Given the description of an element on the screen output the (x, y) to click on. 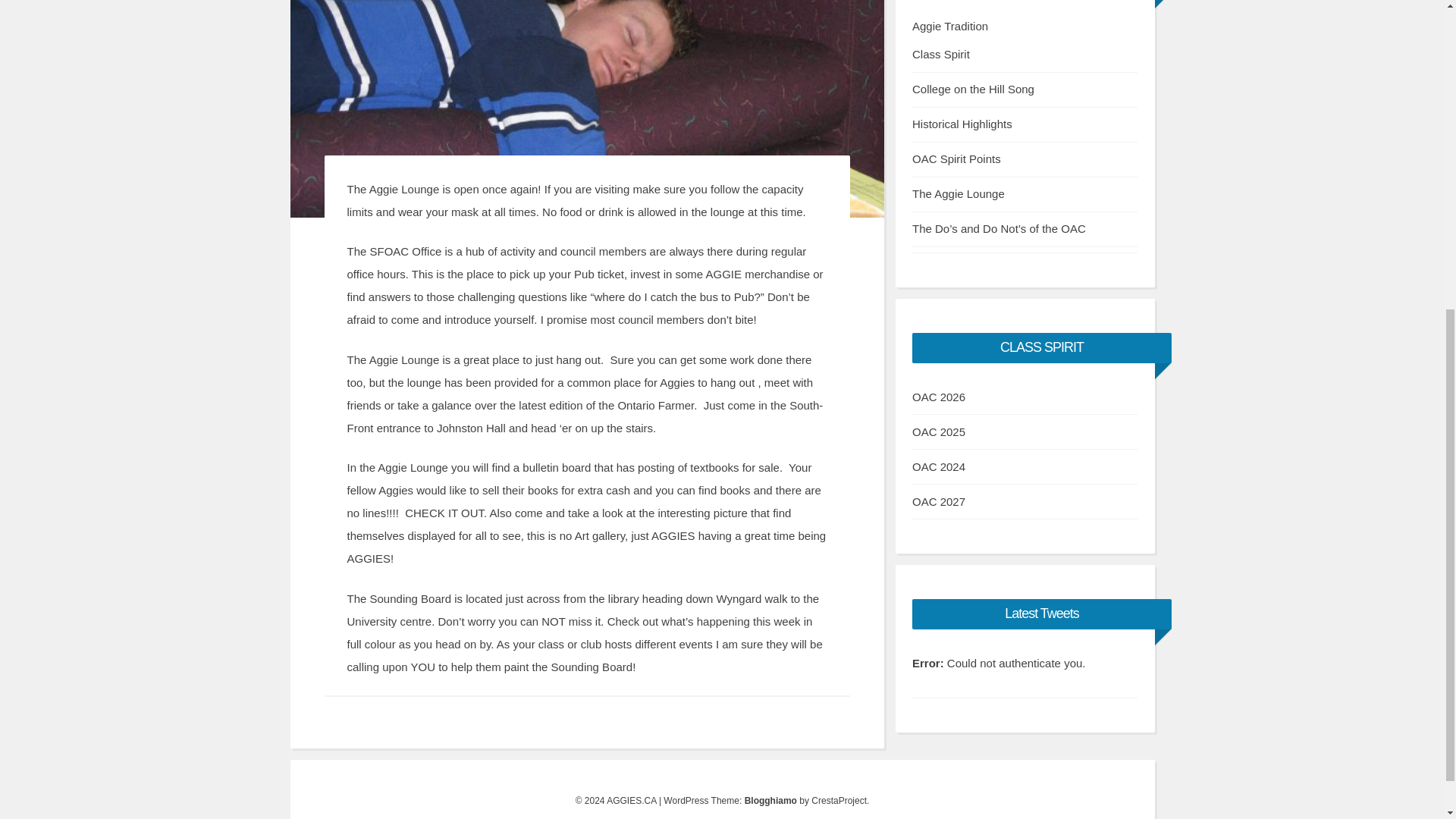
Blogghiamo Theme (770, 800)
Class Spirit (940, 53)
College on the Hill Song (972, 88)
Aggie Tradition (950, 25)
